Given the description of an element on the screen output the (x, y) to click on. 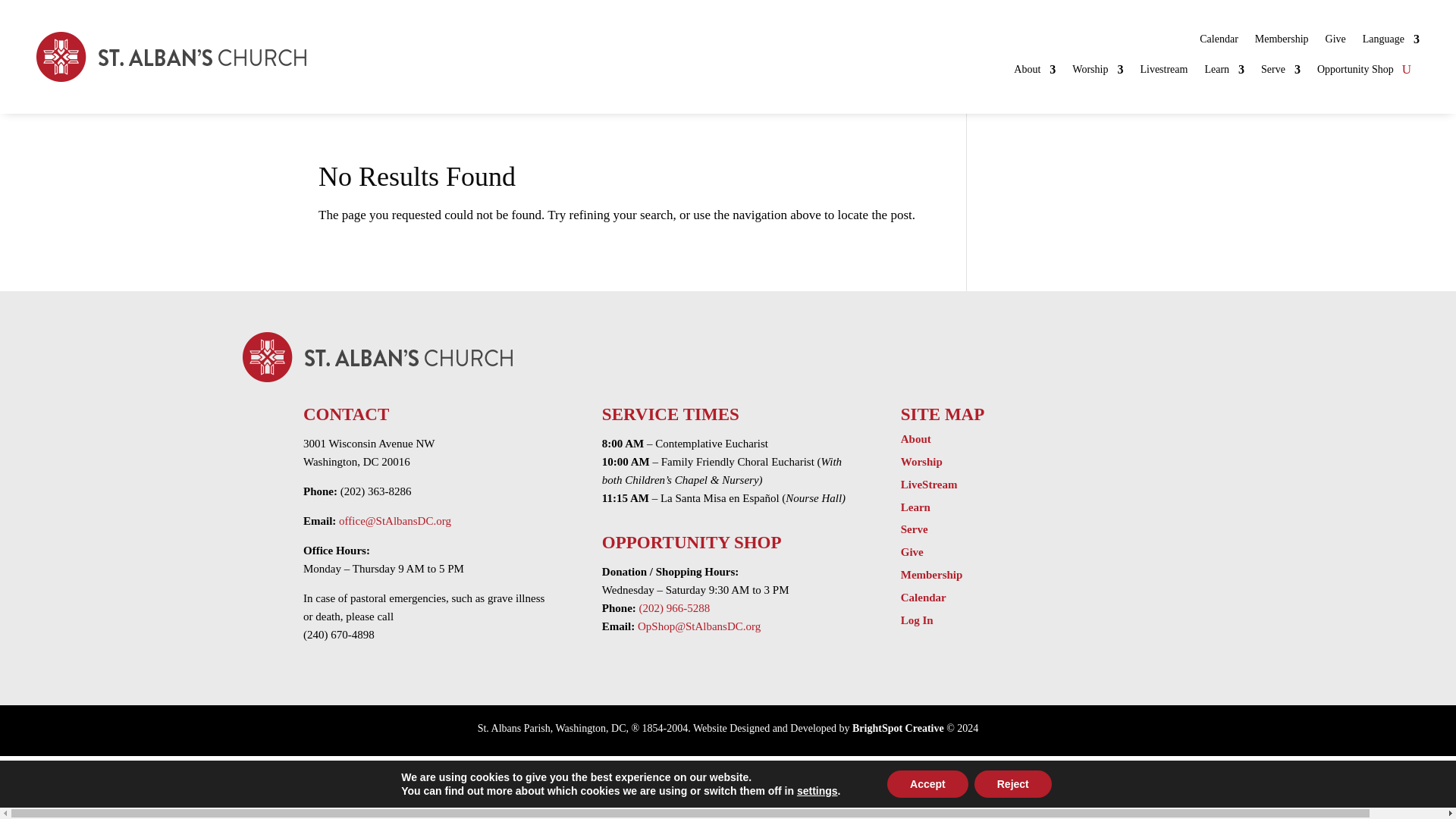
About (1034, 72)
Worship (1096, 72)
Opportunity Shop (1355, 72)
Language (1390, 42)
Give (1334, 42)
st-albans-logo (377, 357)
st-albans-logo (170, 56)
Learn (1224, 72)
Livestream (1164, 72)
Membership (1281, 42)
Serve (1280, 72)
Calendar (1219, 42)
